Given the description of an element on the screen output the (x, y) to click on. 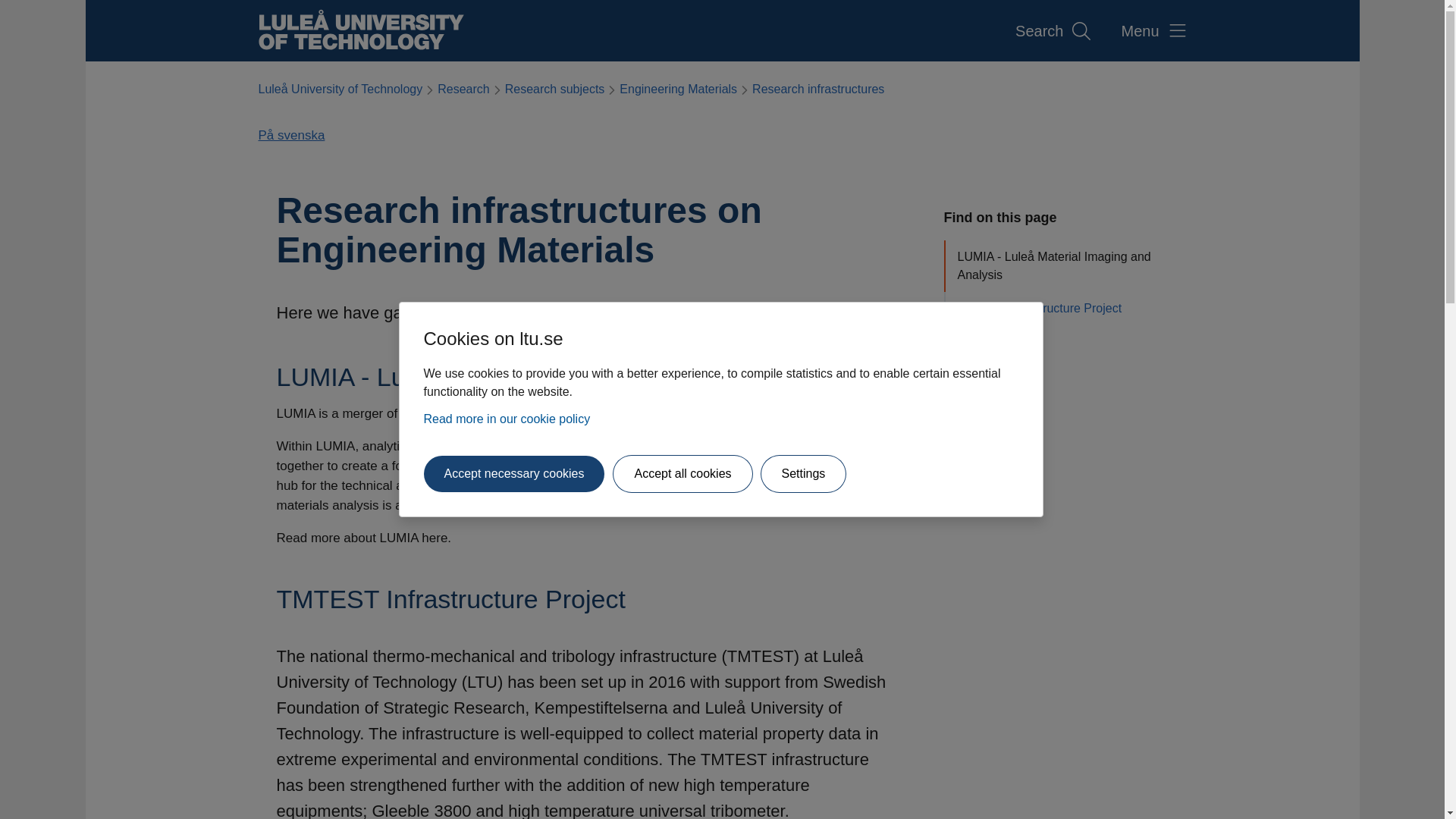
Search (1052, 30)
Menu (1153, 30)
